Given the description of an element on the screen output the (x, y) to click on. 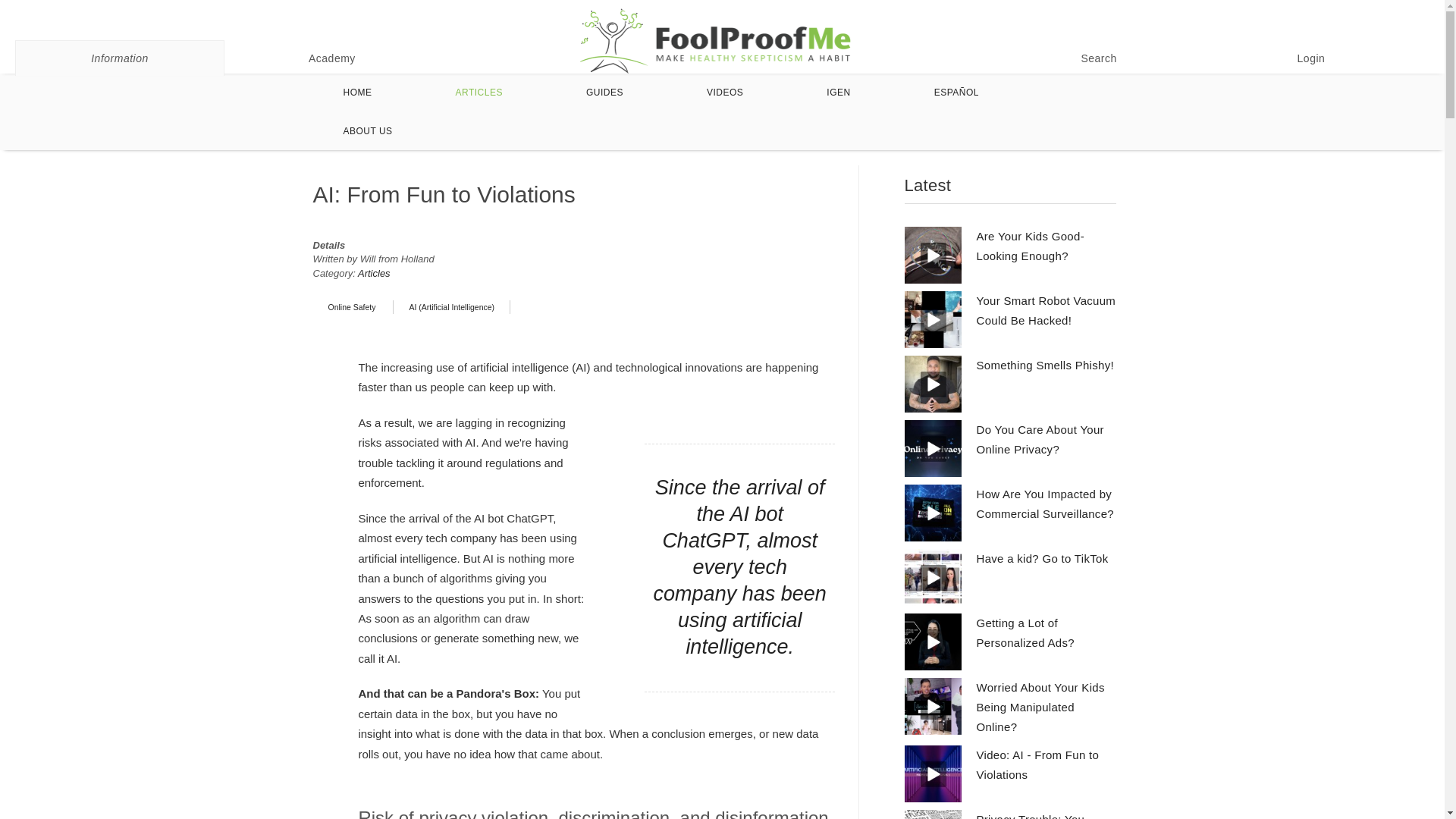
Do You Care About Your Online Privacy? (1039, 439)
ARTICLES (478, 92)
Academy (331, 58)
How Are You Impacted by Commercial Surveillance? (1044, 503)
HOME (357, 92)
VIDEOS (724, 92)
GUIDES (604, 92)
Login (1311, 58)
Getting a Lot of Personalized Ads? (1025, 632)
Have a kid? Go to TikTok (1042, 558)
Something Smells Phishy! (1044, 364)
Online Safety (353, 306)
Your Smart Robot Vacuum Could Be Hacked! (1046, 310)
IGEN (838, 92)
Articles (374, 273)
